Given the description of an element on the screen output the (x, y) to click on. 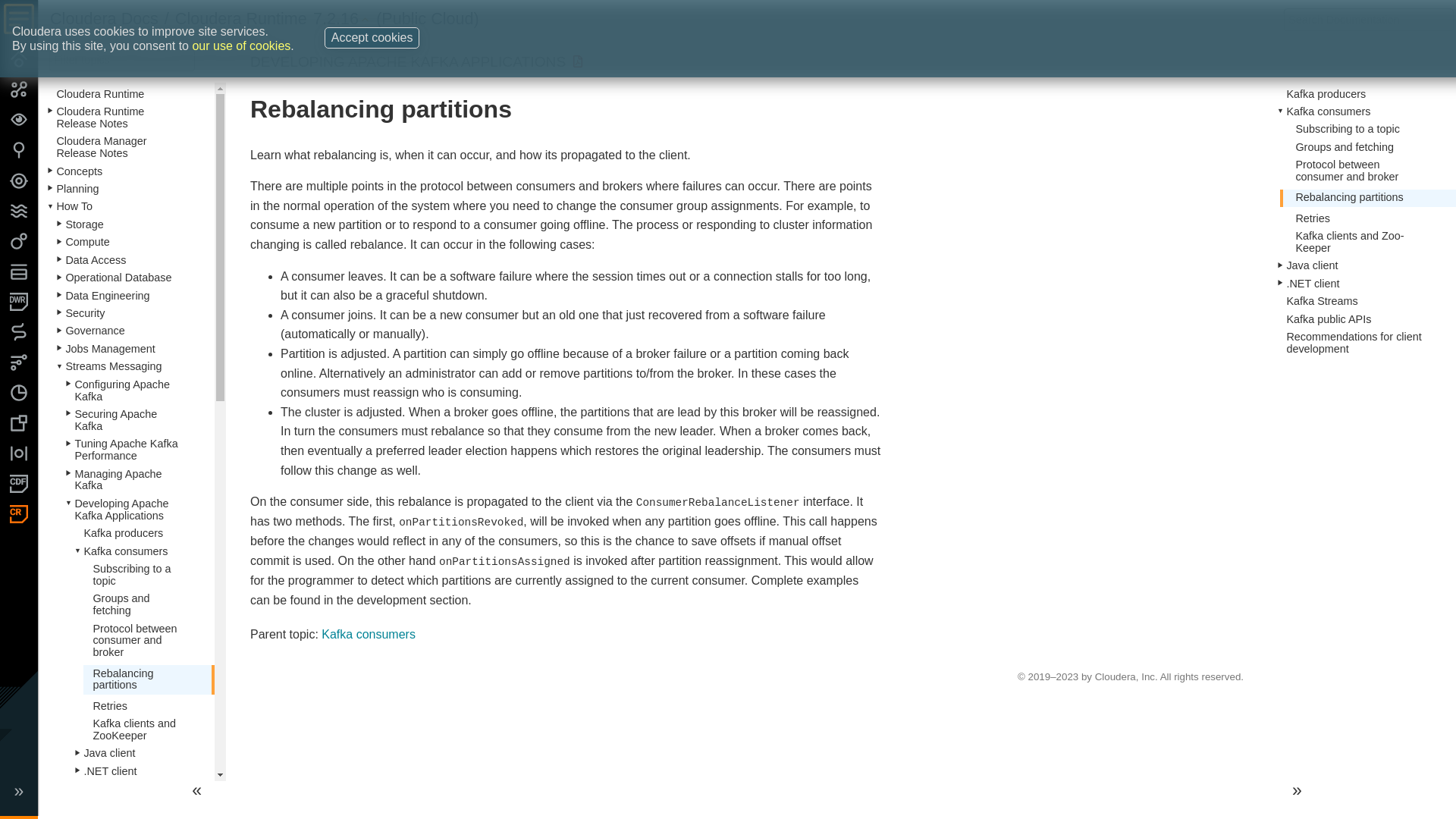
Cloudera Runtime (240, 18)
Learn more about Kafka consumers. (367, 634)
Cloudera Docs (103, 18)
